Given the description of an element on the screen output the (x, y) to click on. 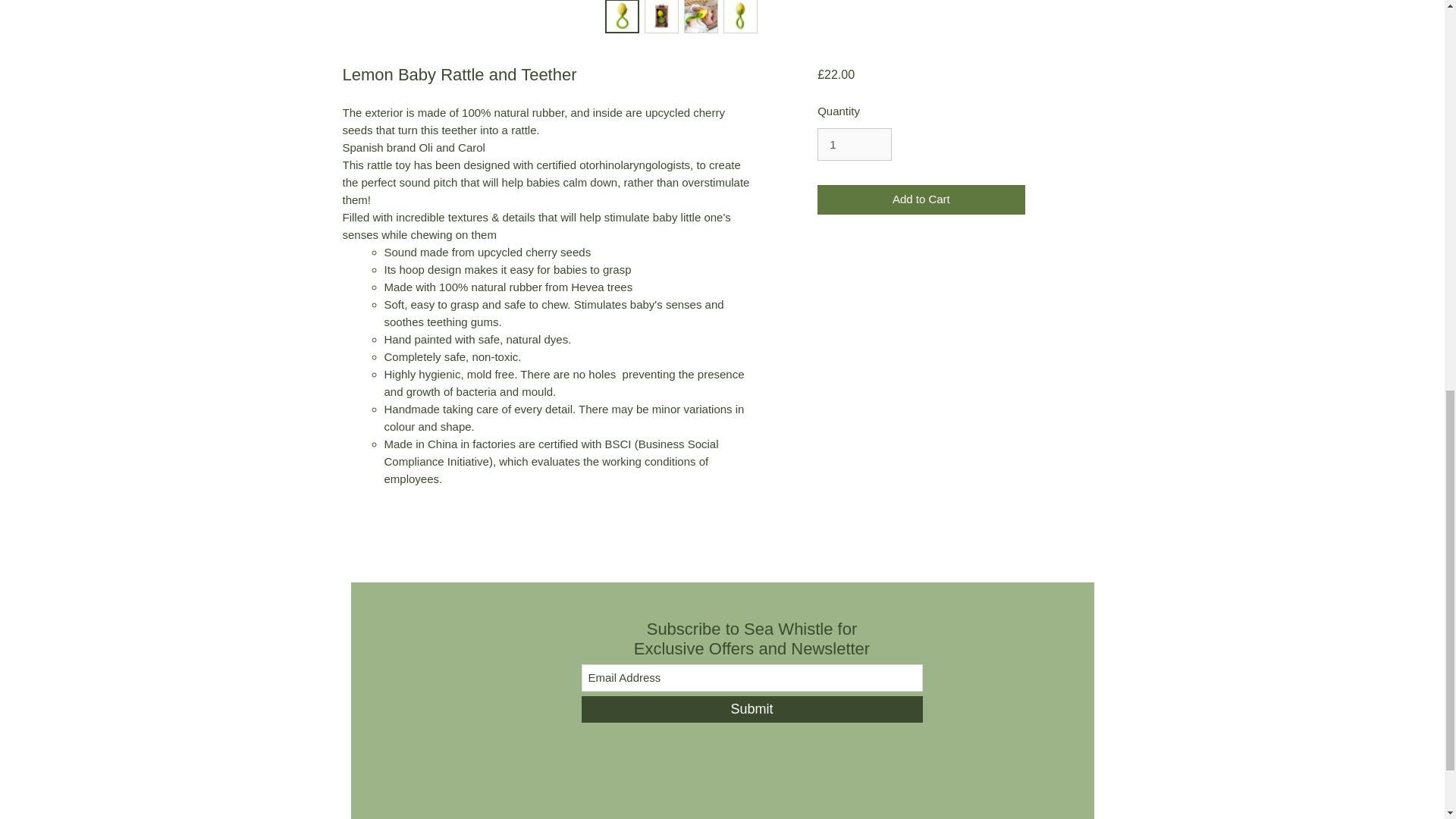
Submit (750, 709)
1 (853, 144)
Add to Cart (920, 199)
